Given the description of an element on the screen output the (x, y) to click on. 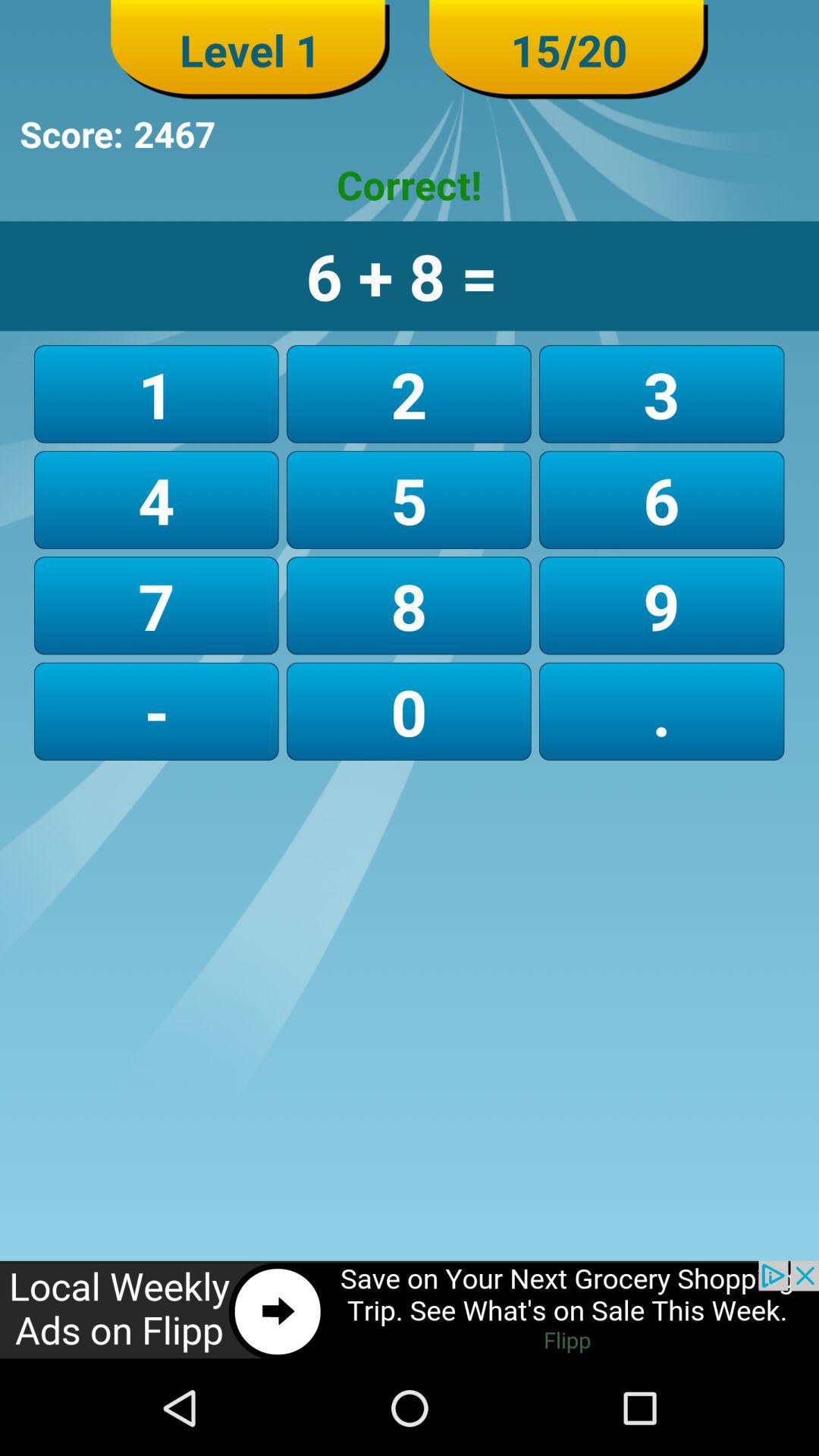
turn off button to the left of the 5 button (156, 605)
